Given the description of an element on the screen output the (x, y) to click on. 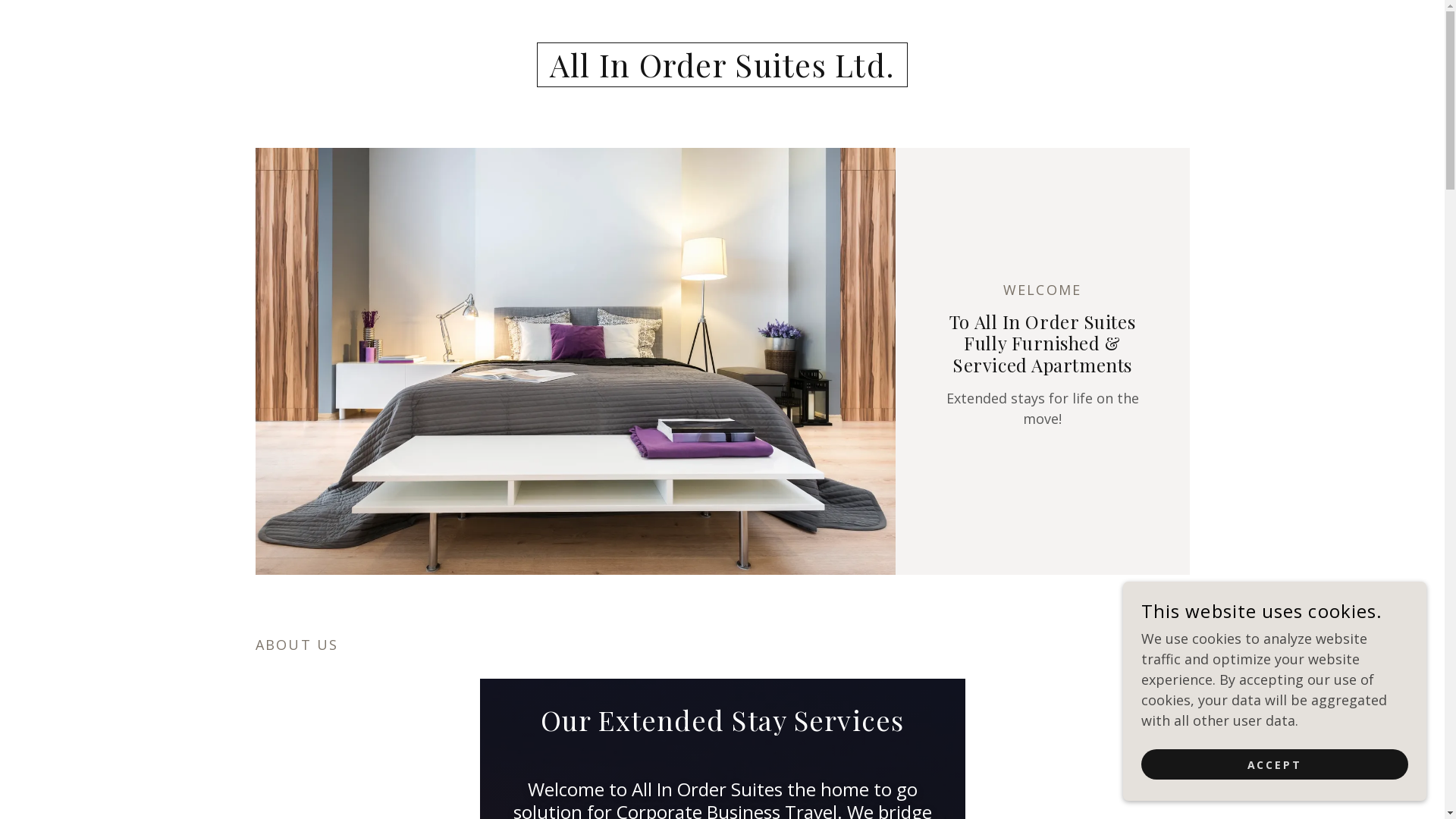
All In Order Suites Ltd. Element type: text (722, 71)
ACCEPT Element type: text (1274, 764)
